Given the description of an element on the screen output the (x, y) to click on. 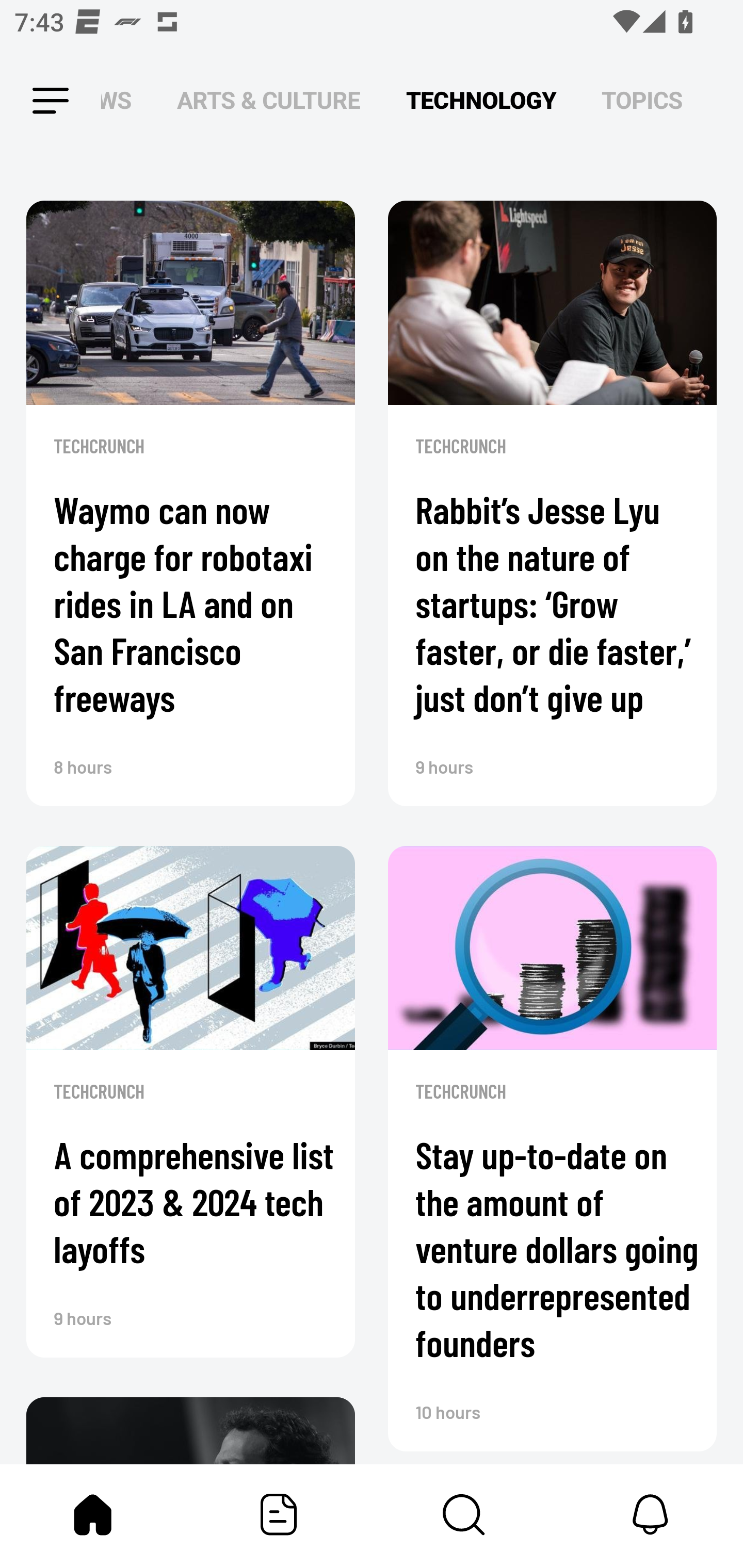
NEWS (121, 100)
ARTS & CULTURE (268, 100)
TOPICS (641, 100)
Featured (278, 1514)
Content Store (464, 1514)
Notifications (650, 1514)
